Given the description of an element on the screen output the (x, y) to click on. 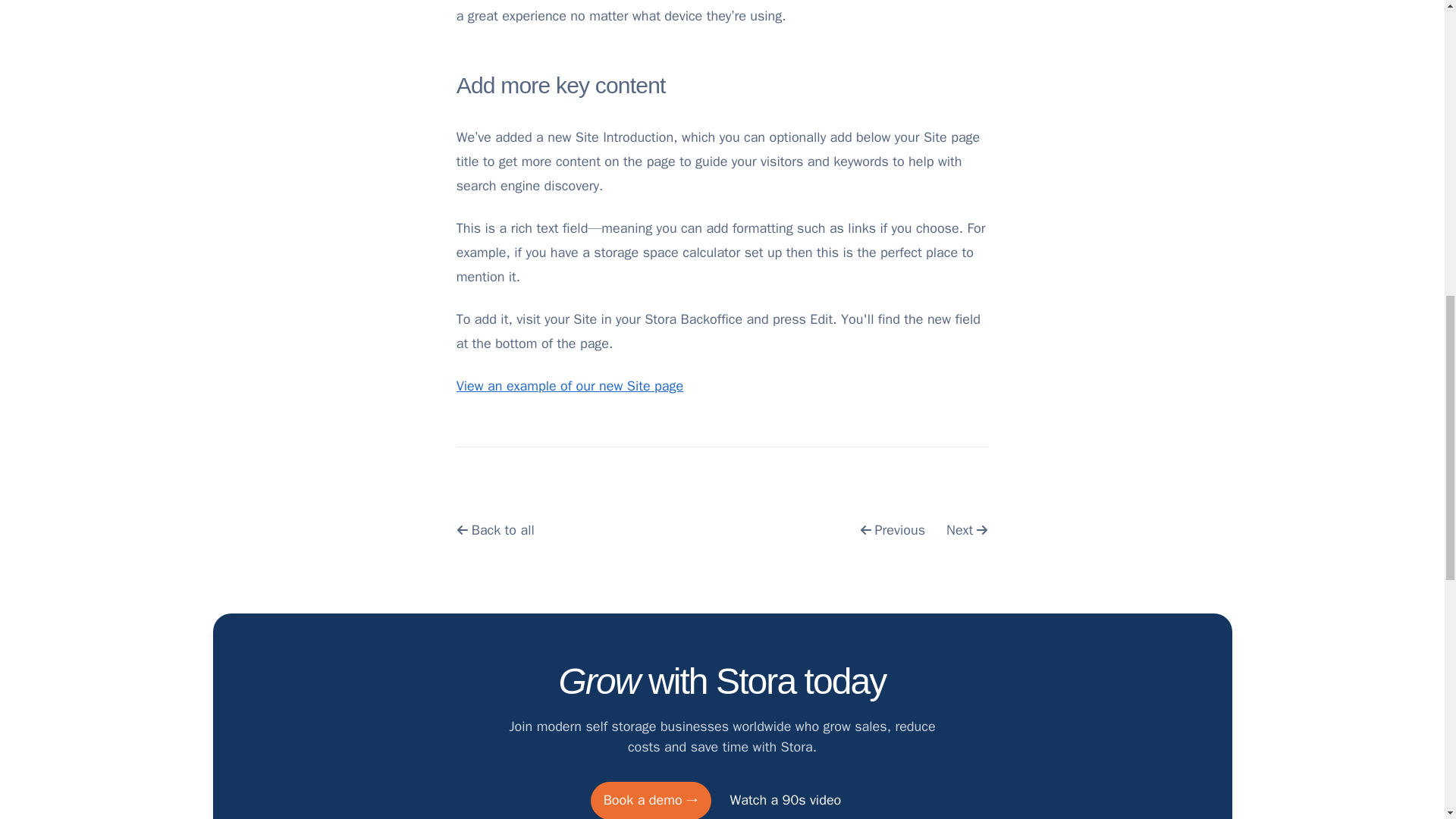
Contact our sales team (785, 800)
Book a demo with Stora (651, 800)
